Given the description of an element on the screen output the (x, y) to click on. 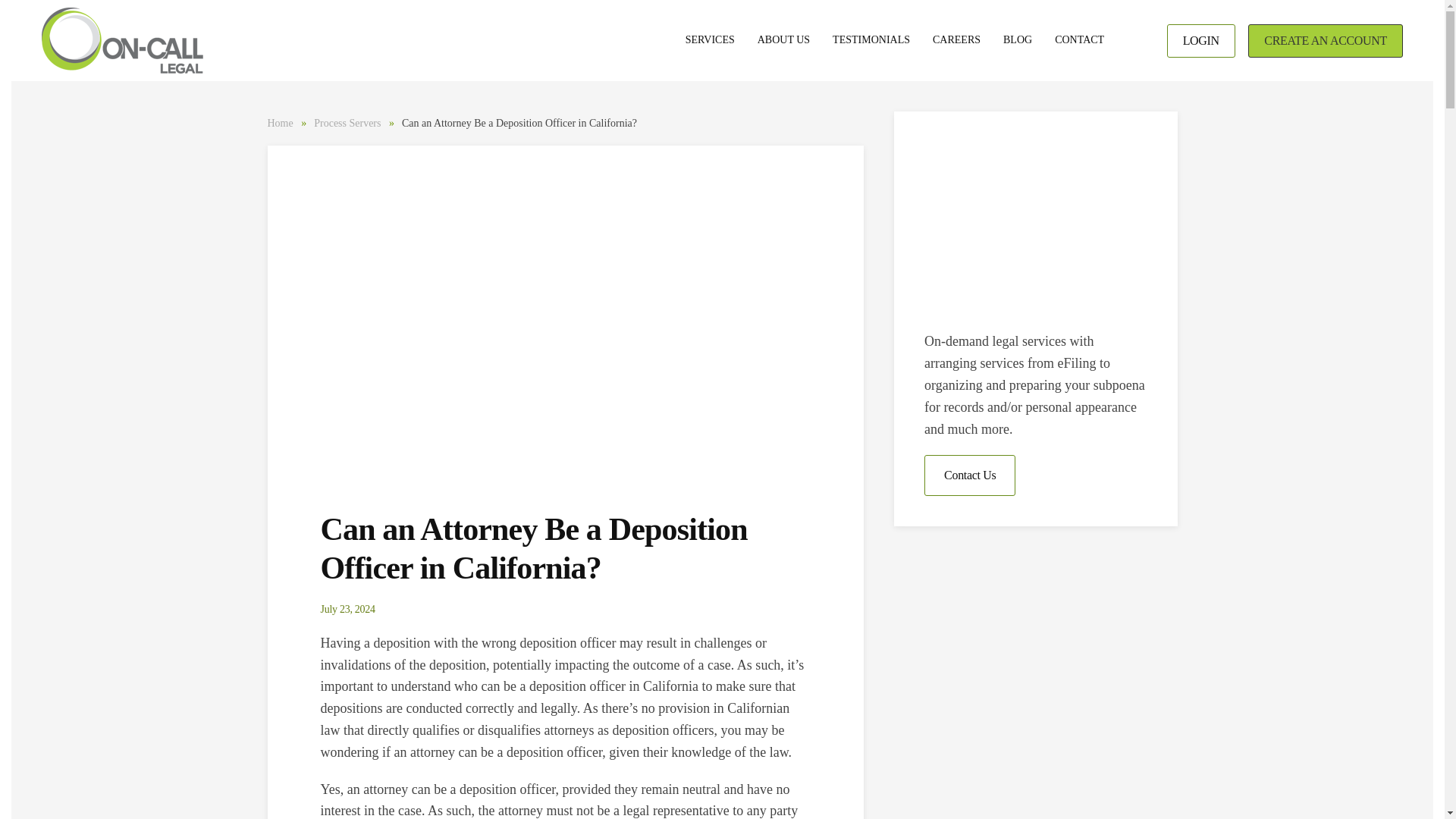
TESTIMONIALS (871, 40)
SERVICES (709, 40)
ABOUT US (783, 40)
CREATE AN ACCOUNT (1325, 40)
CAREERS (956, 40)
CONTACT (1079, 40)
LOGIN (1200, 40)
